Given the description of an element on the screen output the (x, y) to click on. 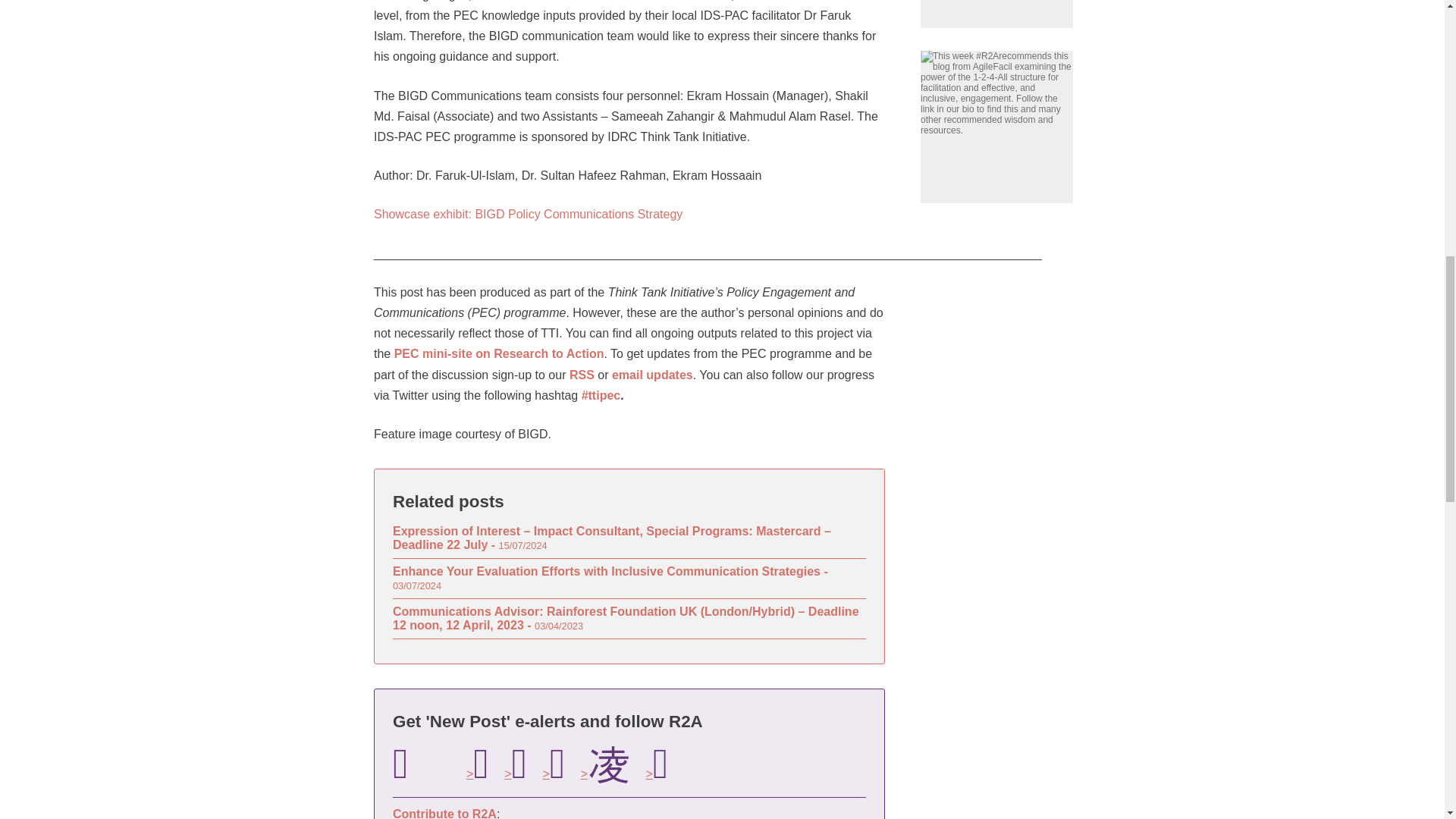
Find us on Instagram (605, 763)
